Given the description of an element on the screen output the (x, y) to click on. 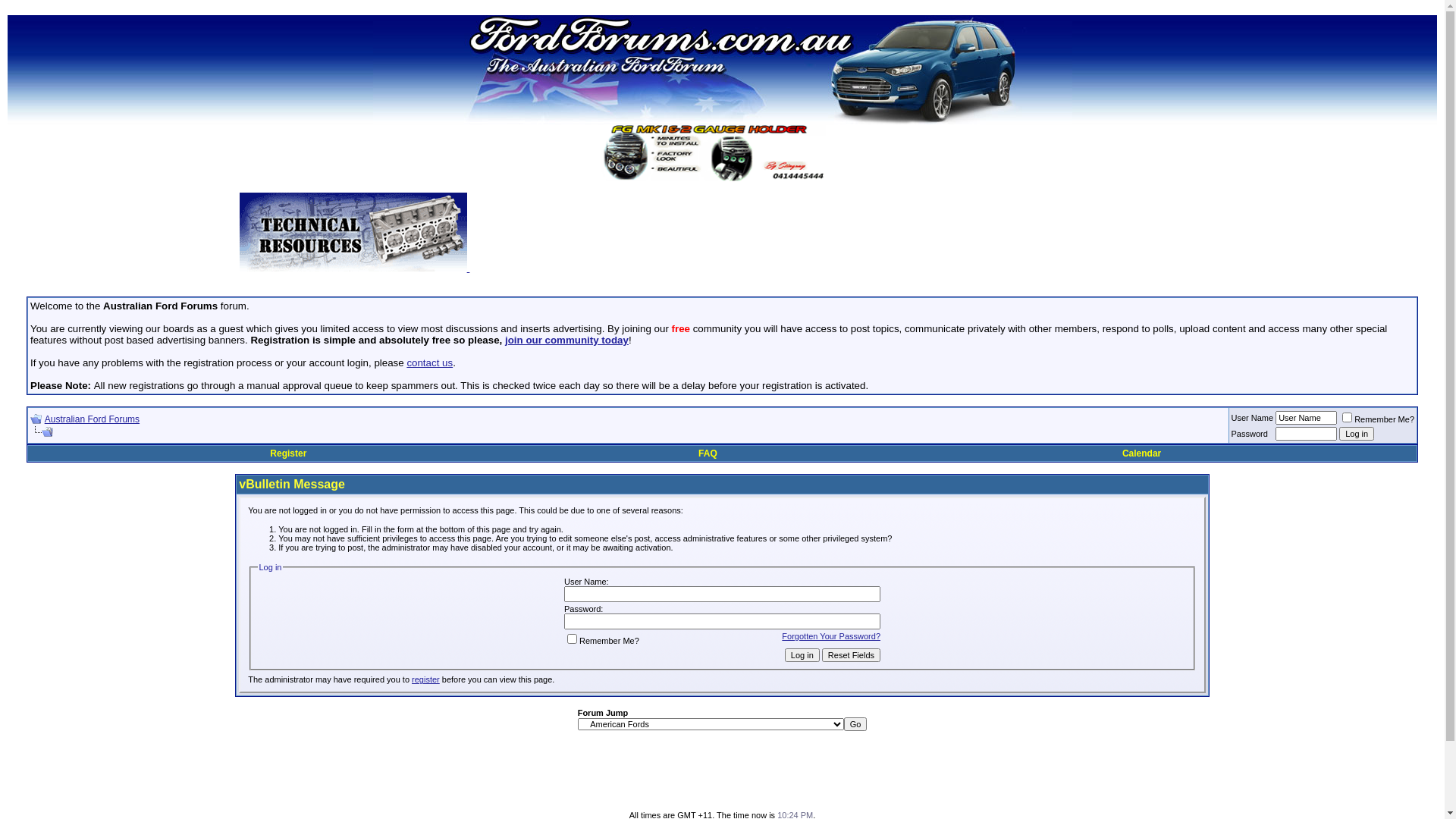
register Element type: text (425, 679)
FAQ Element type: text (707, 453)
Advertisement Element type: hover (836, 237)
Australian Ford Forums Element type: text (91, 419)
contact us Element type: text (429, 362)
Go Back Element type: hover (35, 418)
Forgotten Your Password? Element type: text (830, 635)
Go Element type: text (855, 724)
Advertisement Element type: hover (722, 776)
Calendar Element type: text (1141, 453)
Log in Element type: text (801, 654)
Reload this Page Element type: hover (41, 431)
Register Element type: text (287, 453)
join our community today Element type: text (566, 339)
Stingray Element type: hover (721, 152)
Log in Element type: text (1356, 433)
